Given the description of an element on the screen output the (x, y) to click on. 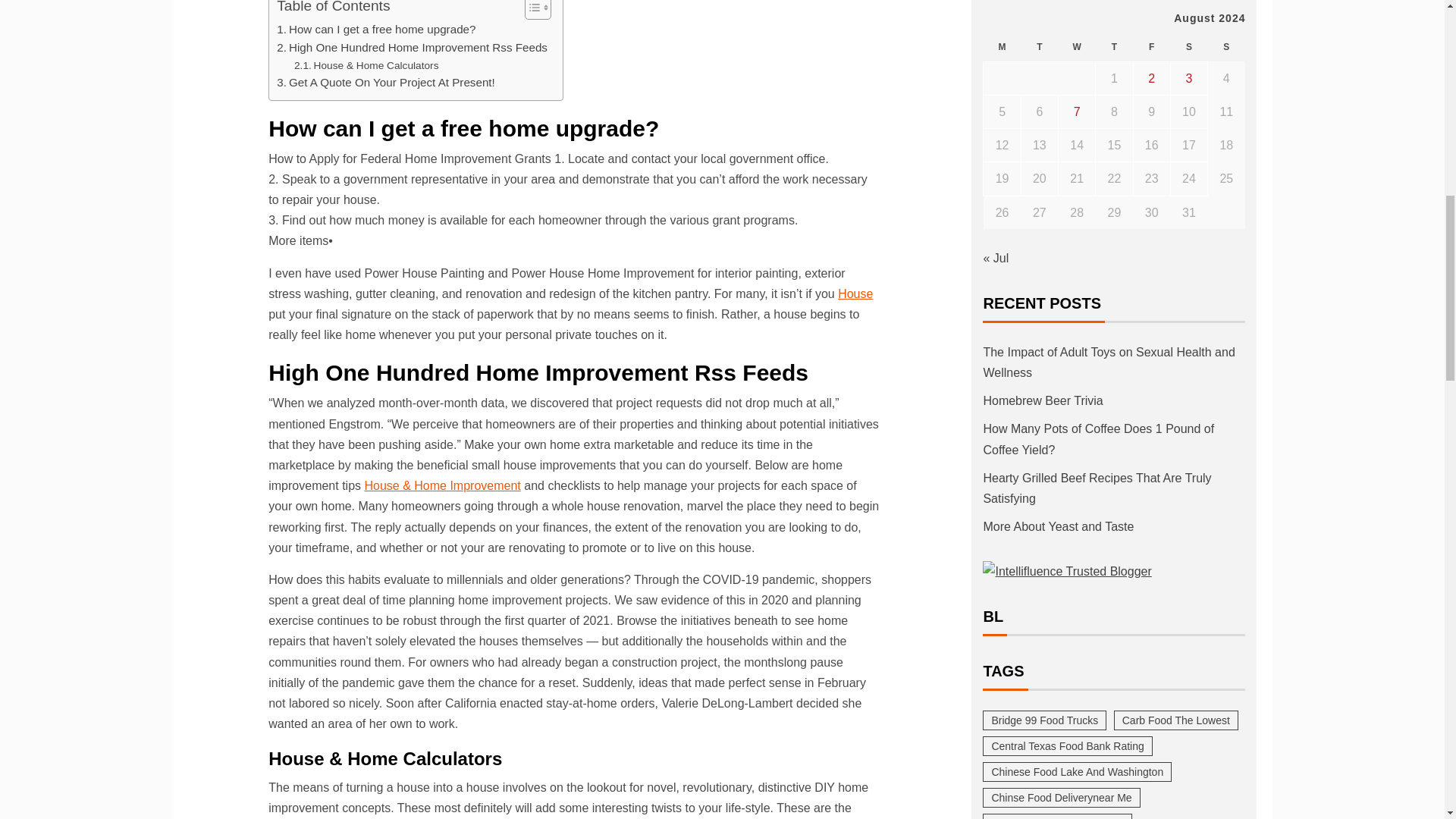
High One Hundred Home Improvement Rss Feeds (411, 47)
Get A Quote On Your Project At Present! (385, 82)
House (855, 293)
Monday (1002, 47)
High One Hundred Home Improvement Rss Feeds (411, 47)
How can I get a free home upgrade? (376, 29)
How can I get a free home upgrade? (376, 29)
Wednesday (1077, 47)
Tuesday (1039, 47)
Get A Quote On Your Project At Present! (385, 82)
